Given the description of an element on the screen output the (x, y) to click on. 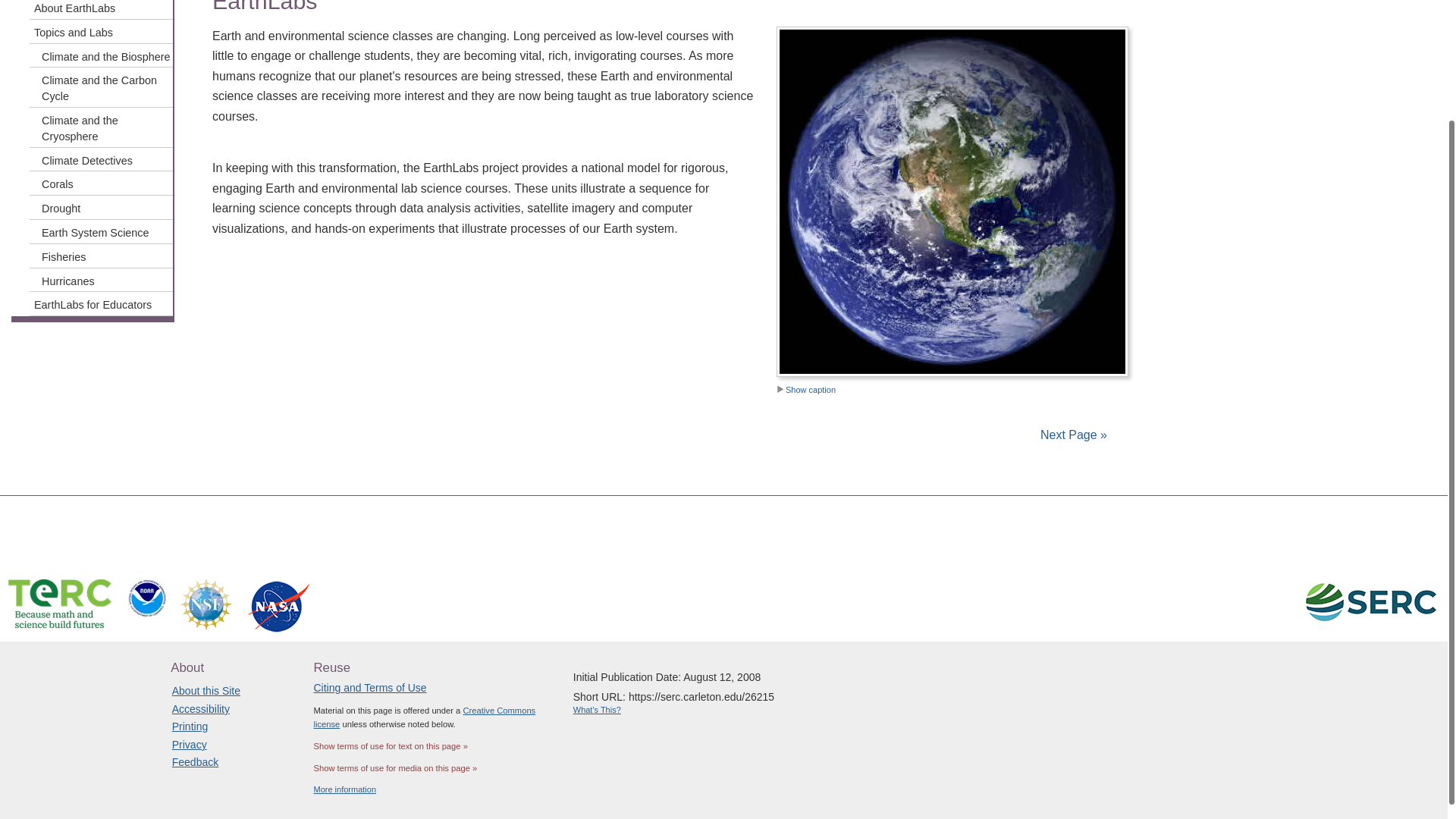
Topics and Labs (101, 31)
Hurricanes (101, 280)
EarthLabs for Educators (101, 303)
Accessibility (200, 708)
Climate and the Carbon Cycle (101, 87)
Show caption (805, 388)
Earth System Science (101, 232)
Drought (101, 207)
Printing (189, 726)
Climate Detectives (101, 159)
About this Site (205, 690)
Creative Commons license (424, 716)
Privacy (188, 744)
Fisheries (101, 256)
Corals (101, 183)
